Given the description of an element on the screen output the (x, y) to click on. 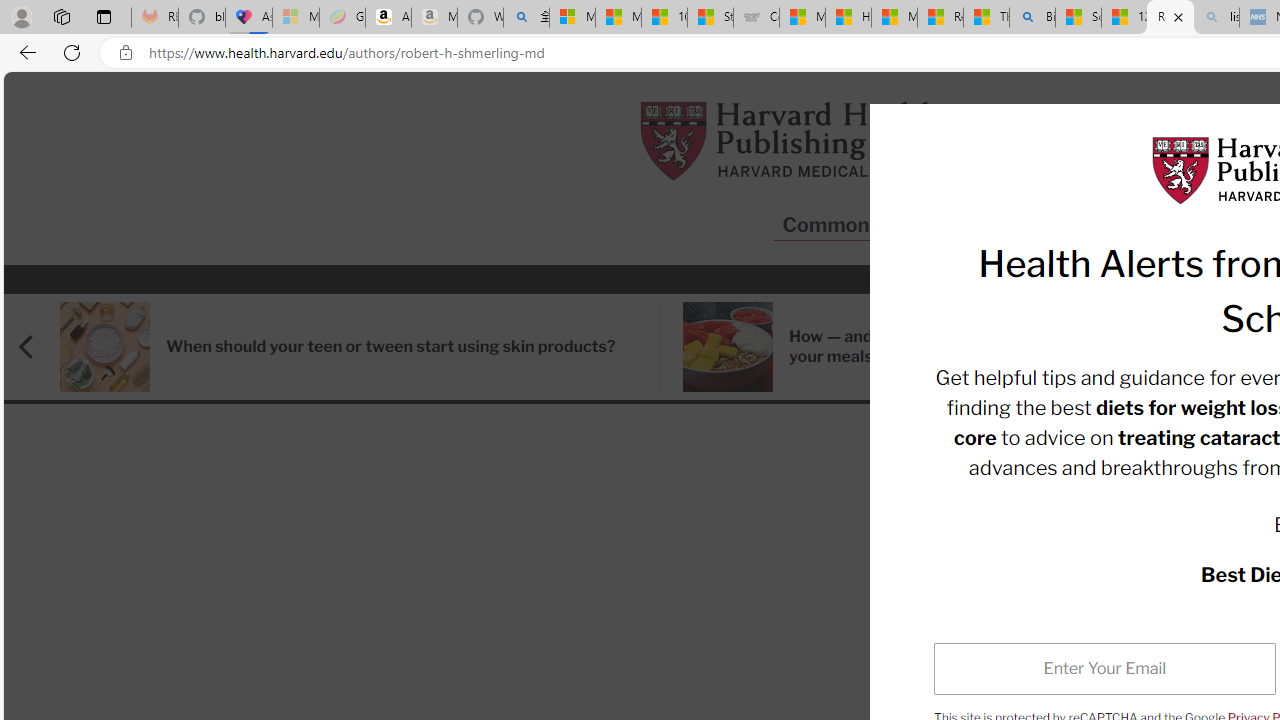
Harvard Health Publishing Harvard Health Publishing Logo (789, 140)
Common Conditions (879, 225)
